Given the description of an element on the screen output the (x, y) to click on. 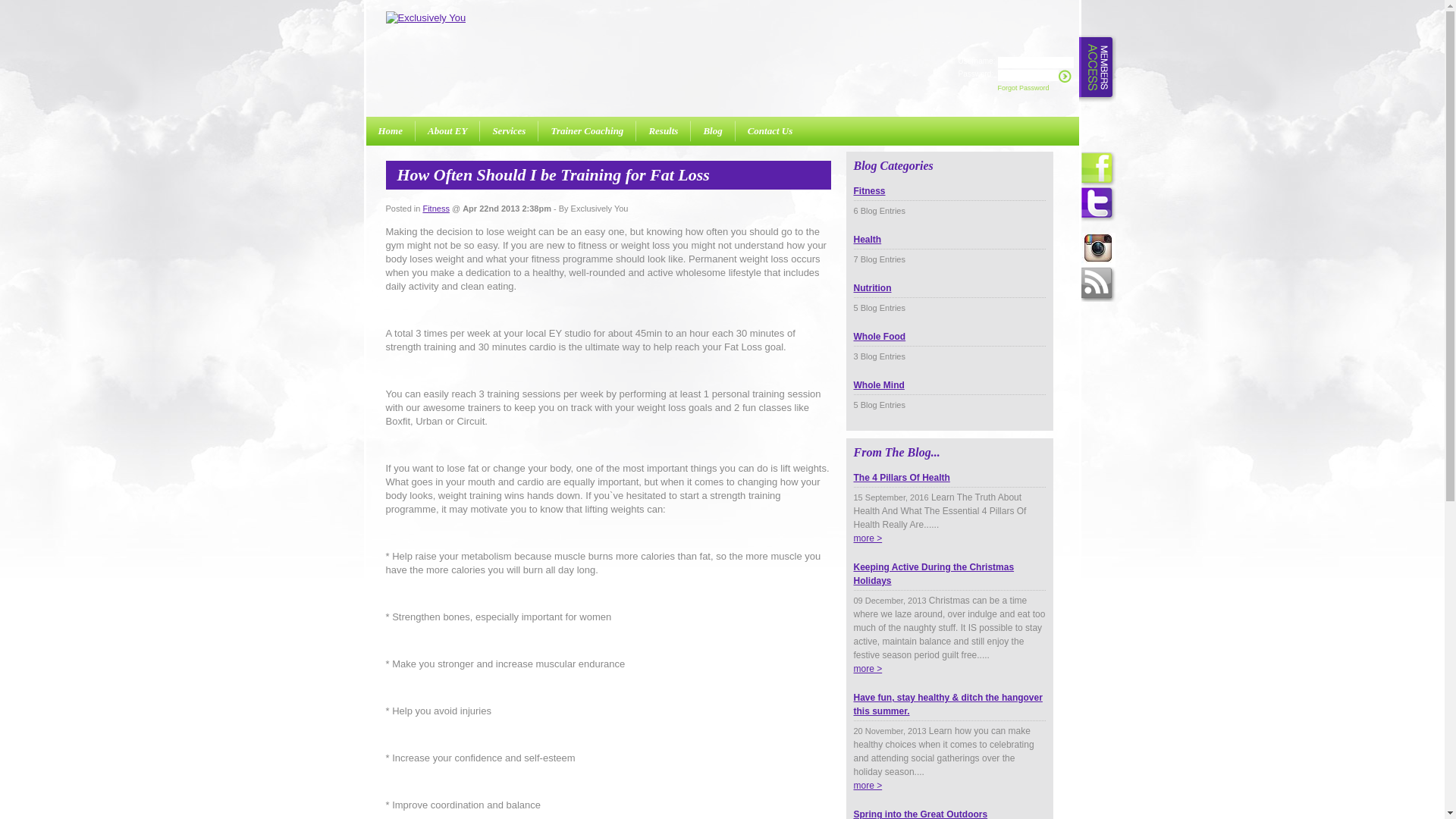
Trainer Coaching Element type: text (586, 133)
Results Element type: text (663, 133)
Forgot Password Element type: text (1023, 87)
Keeping Active During the Christmas Holidays Element type: text (949, 582)
Whole Mind Element type: text (949, 394)
Health Element type: text (949, 248)
more > Element type: text (867, 785)
Services Element type: text (508, 133)
Home Element type: text (389, 133)
Fitness Element type: text (435, 208)
The 4 Pillars Of Health Element type: text (949, 486)
Whole Food Element type: text (949, 345)
About EY Element type: text (447, 133)
Contact Us Element type: text (770, 133)
Have fun, stay healthy & ditch the hangover this summer. Element type: text (949, 713)
more > Element type: text (867, 668)
more > Element type: text (867, 538)
Blog Element type: text (712, 133)
Nutrition Element type: text (949, 297)
Fitness Element type: text (949, 200)
Submit Element type: text (1064, 75)
